Given the description of an element on the screen output the (x, y) to click on. 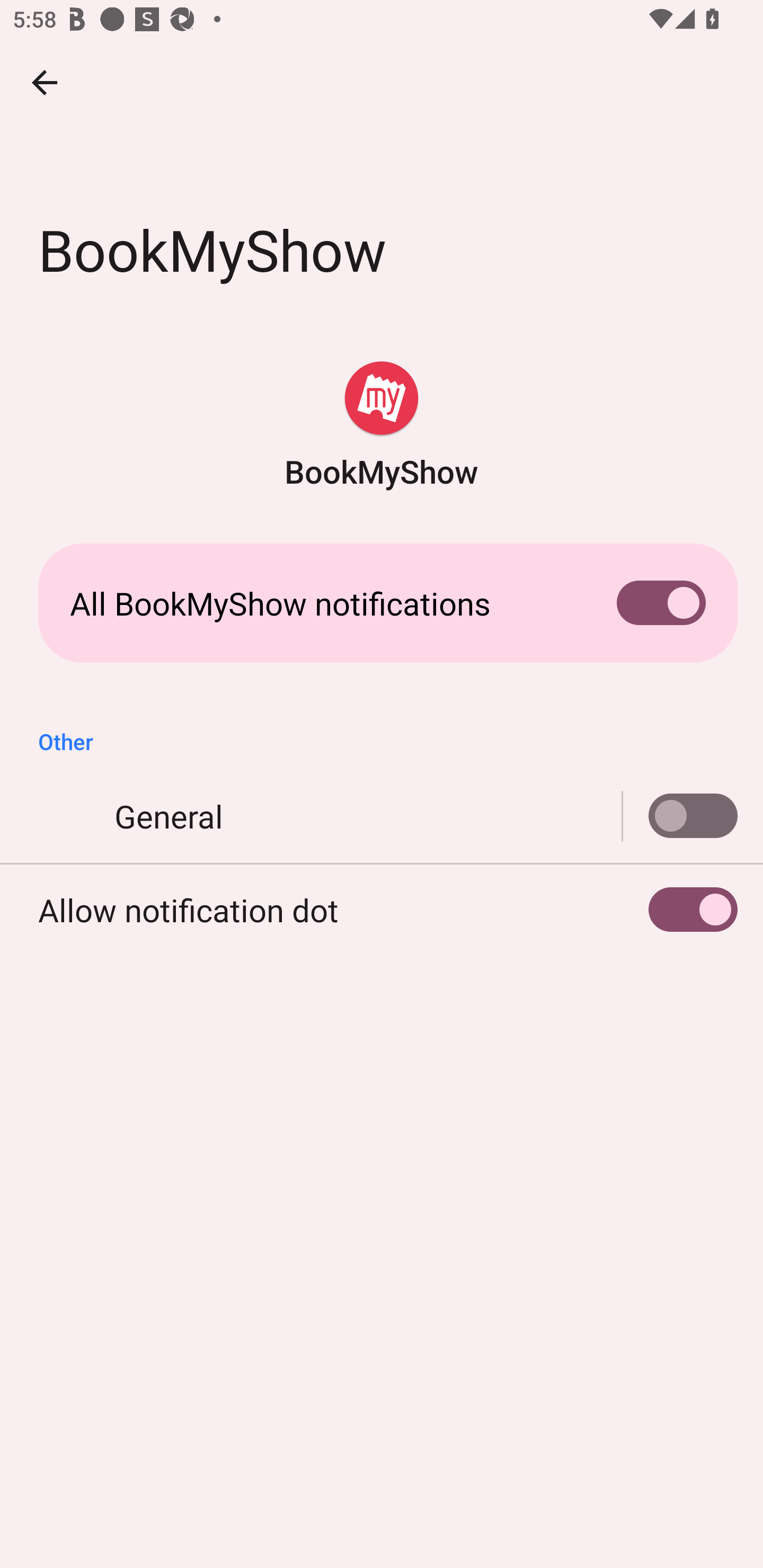
Navigate up (44, 82)
BookMyShow (381, 426)
All BookMyShow notifications (381, 602)
General (381, 815)
General (680, 815)
Allow notification dot (381, 909)
